Given the description of an element on the screen output the (x, y) to click on. 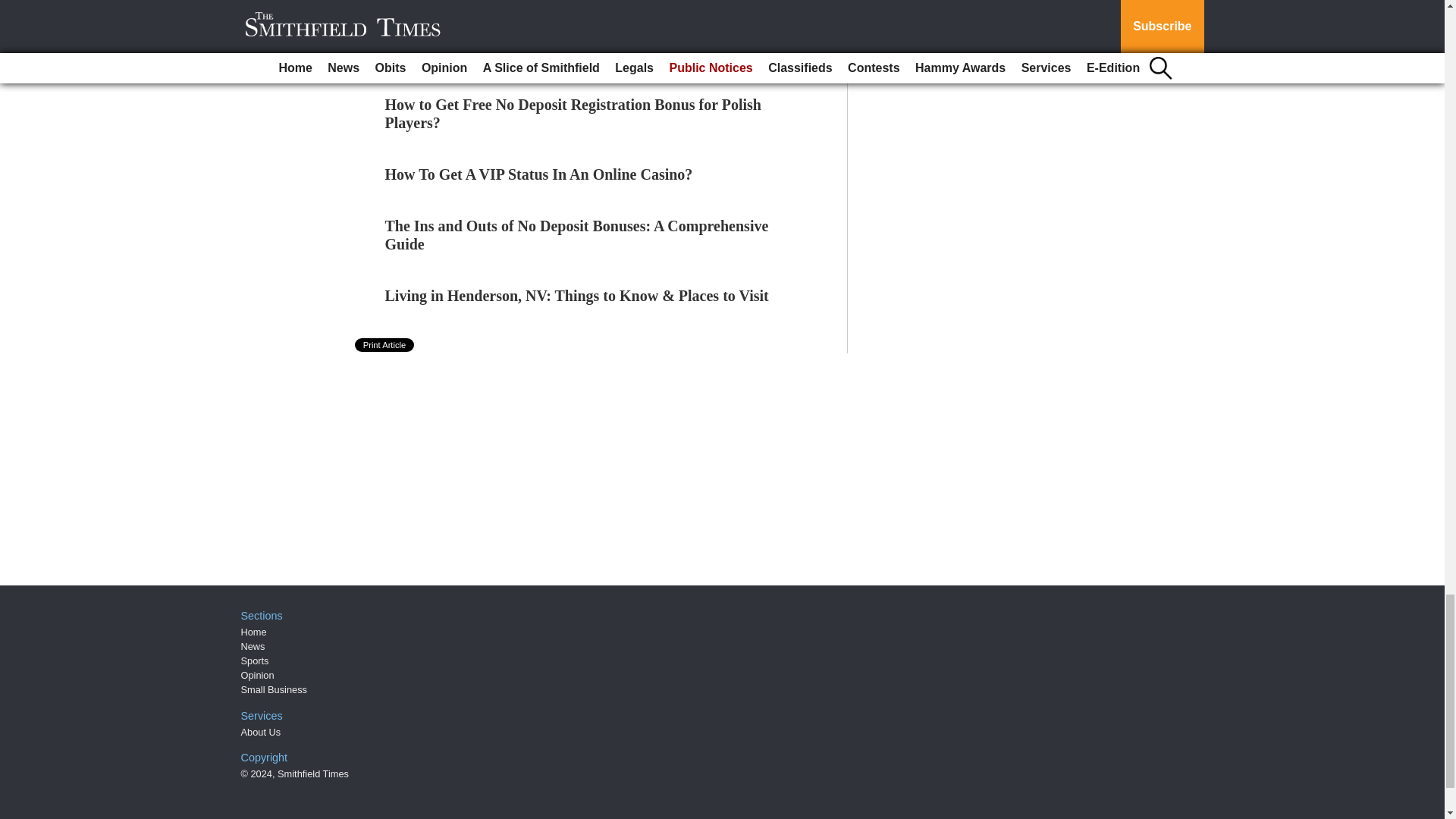
How To Get A VIP Status In An Online Casino? (539, 174)
How To Get A VIP Status In An Online Casino? (539, 174)
Home (253, 632)
Print Article (384, 345)
